Given the description of an element on the screen output the (x, y) to click on. 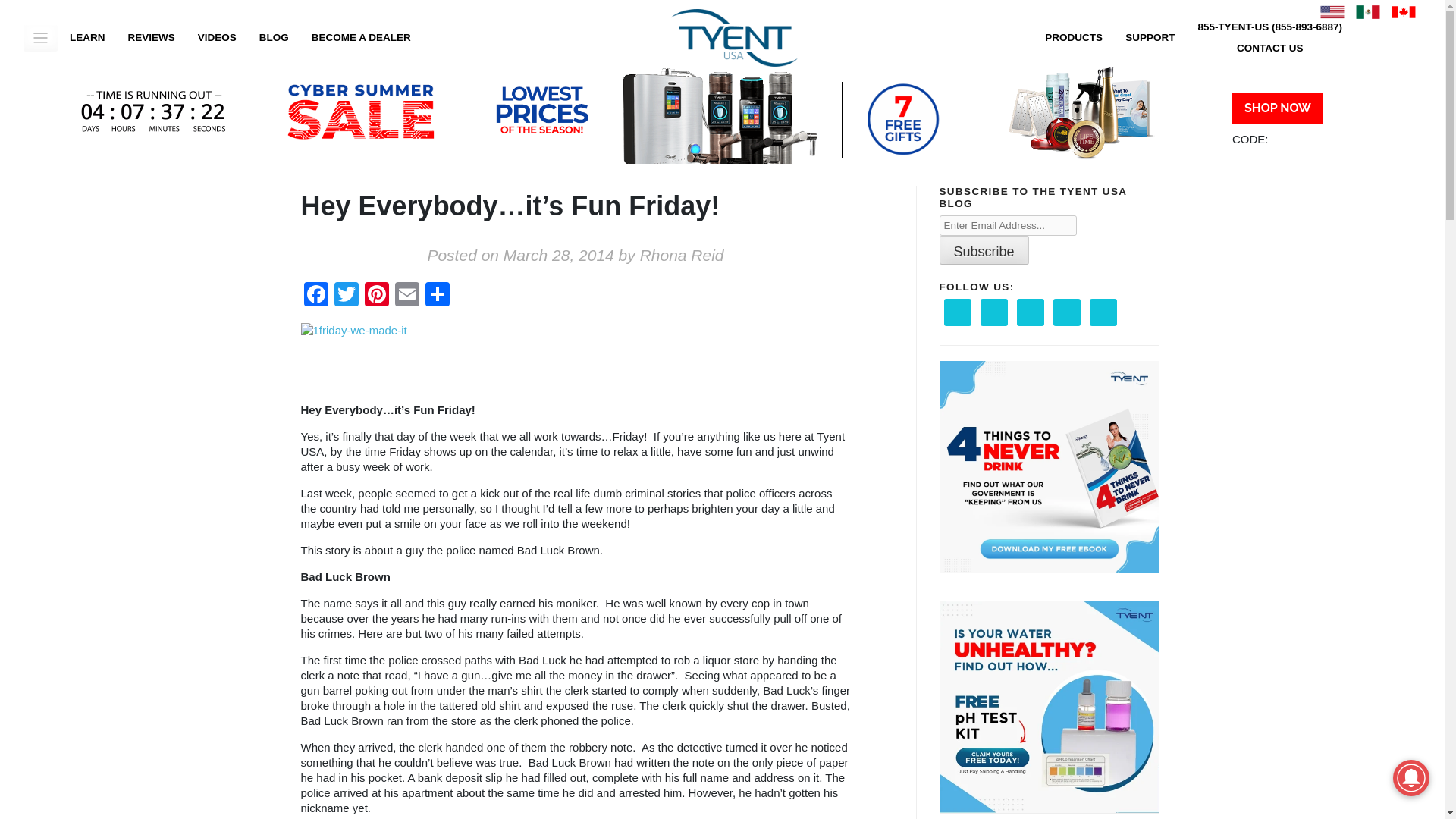
Mexican Peso - MXN (1367, 12)
US Dollar - USD (1331, 12)
Facebook (314, 295)
Email (406, 295)
Canadian Dollar - CAD (1402, 12)
Pinterest (376, 295)
Twitter (345, 295)
Subscribe (983, 249)
